Given the description of an element on the screen output the (x, y) to click on. 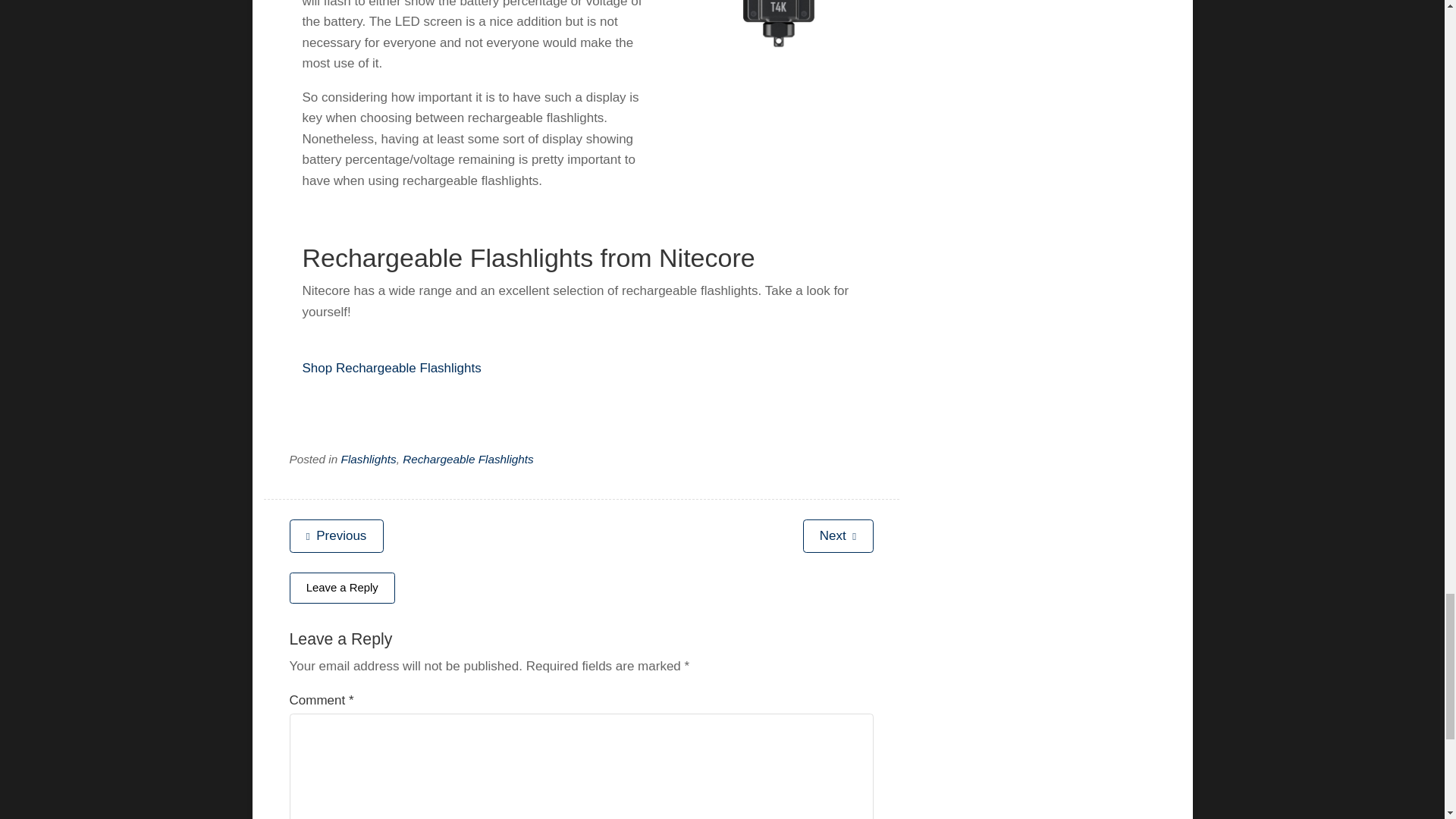
Leave a Reply (342, 587)
Shop Rechargeable Flashlights (390, 368)
Flashlights (368, 459)
LED (777, 24)
Next (838, 535)
Previous (336, 535)
Rechargeable Flashlights (468, 459)
